Given the description of an element on the screen output the (x, y) to click on. 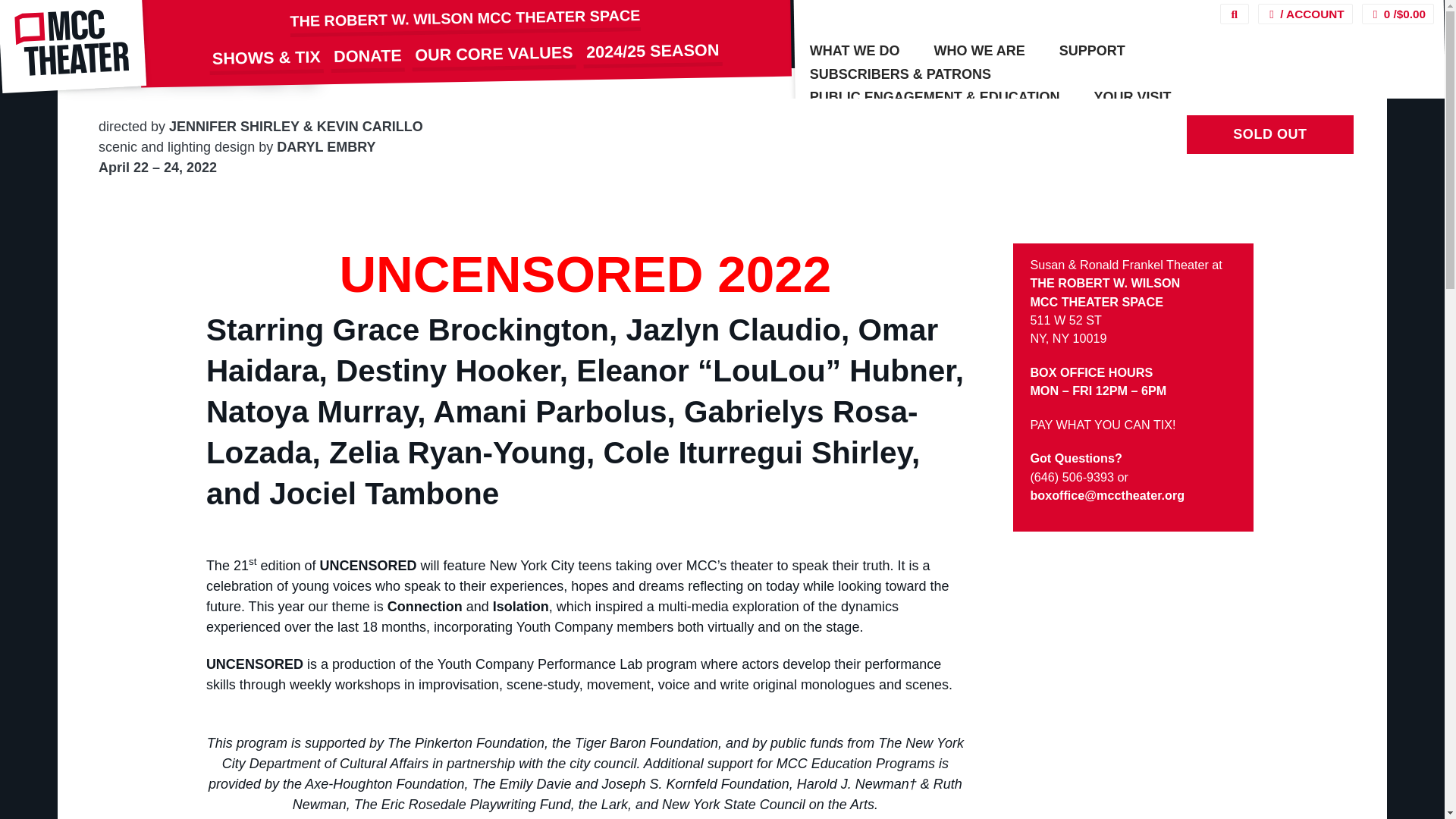
OUR CORE VALUES (493, 53)
SUPPORT (1091, 51)
WHO WE ARE (978, 51)
WHAT WE DO (854, 51)
YOUR VISIT (1132, 96)
THE ROBERT W. WILSON MCC THEATER SPACE (464, 17)
DONATE (367, 56)
